Given the description of an element on the screen output the (x, y) to click on. 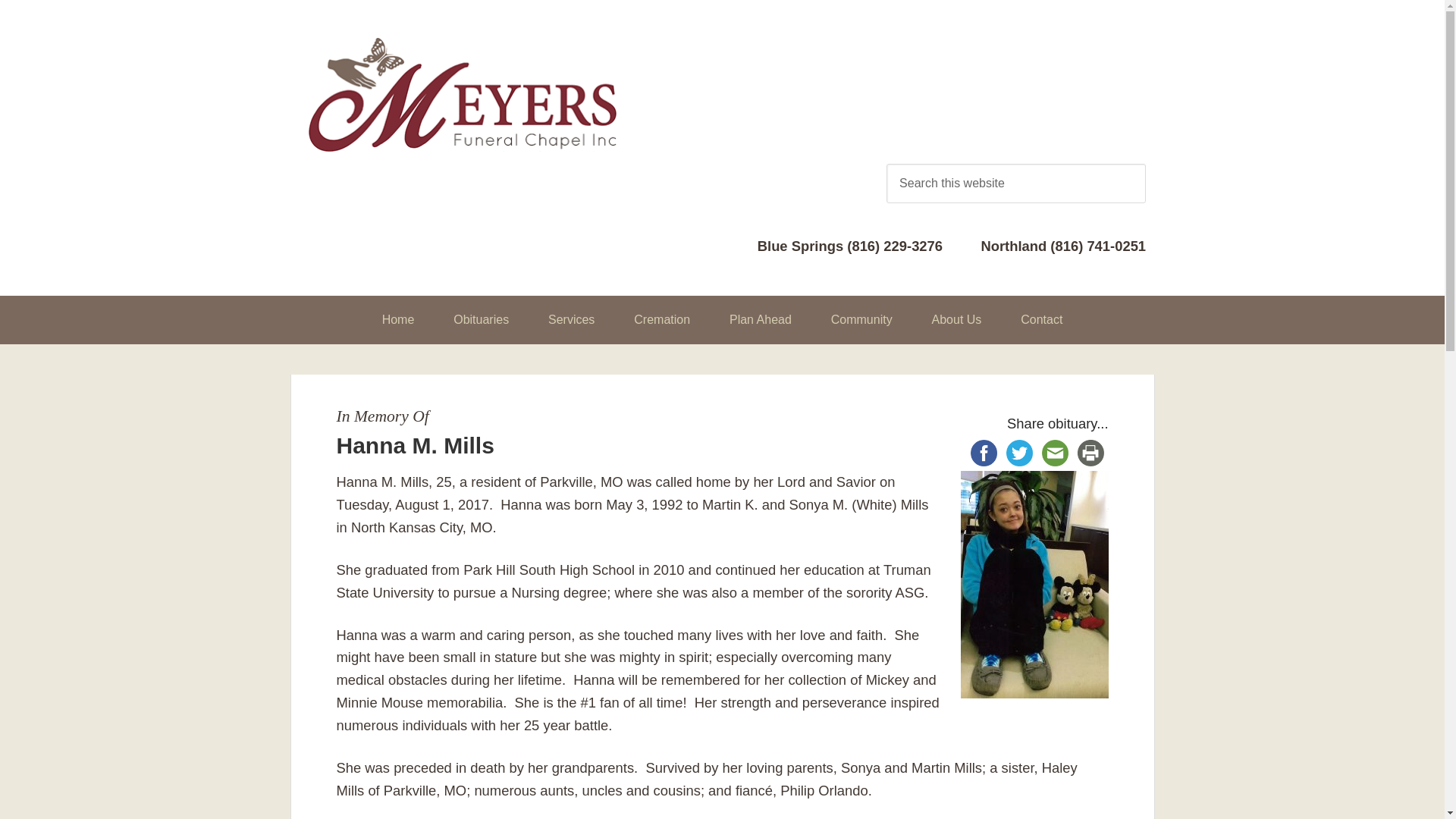
About Us (957, 319)
Cremation (661, 319)
Obituaries (481, 319)
Meyers Funeral Chapel Kansas City MO (461, 94)
email (1054, 452)
Plan Ahead (760, 319)
Home (398, 319)
Services (570, 319)
twitter (1018, 452)
print (1089, 452)
facebook (983, 452)
Contact (1041, 319)
